Given the description of an element on the screen output the (x, y) to click on. 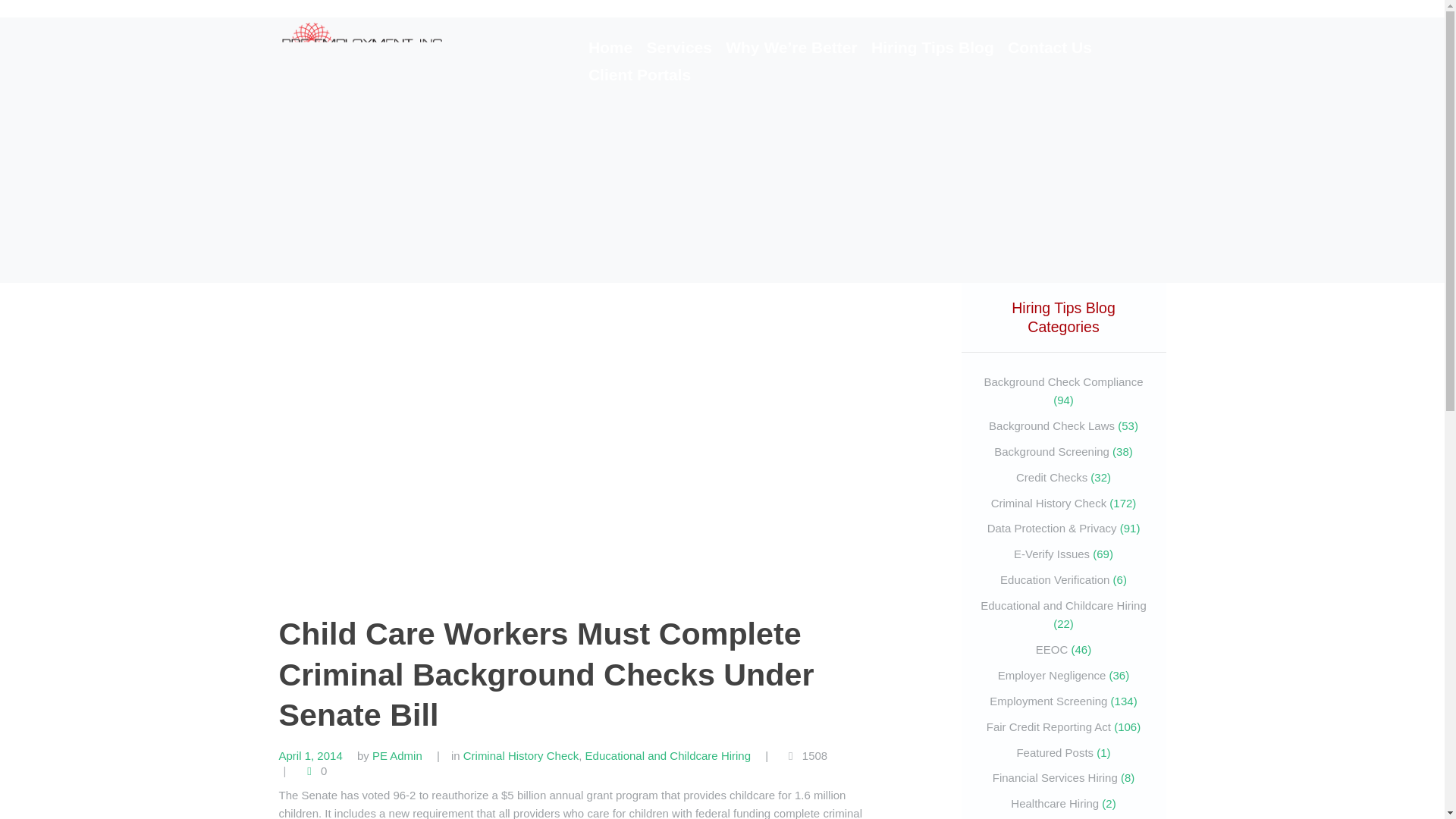
Background Screening (1051, 451)
Criminal History Check (1048, 502)
April 1, 2014 (310, 755)
Background Check Laws (1051, 425)
EEOC (1051, 649)
Educational and Childcare Hiring (668, 755)
Hiring Tips Blog (932, 49)
Home (609, 49)
Like (314, 770)
